Given the description of an element on the screen output the (x, y) to click on. 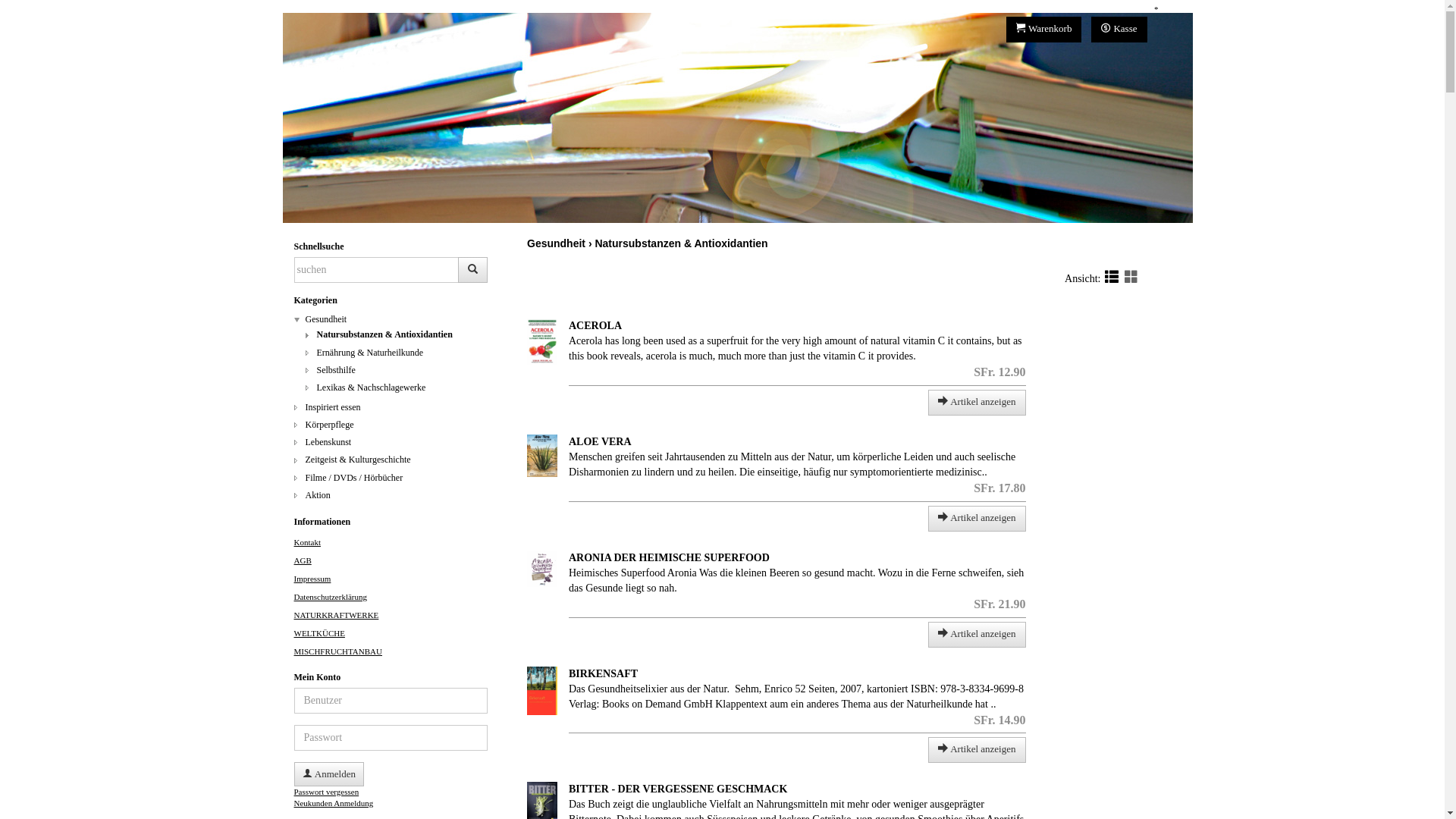
Artikel anzeigen Element type: text (977, 749)
Anmelden Element type: text (329, 774)
* Element type: text (1156, 9)
ACEROLA Element type: text (594, 325)
Artikel anzeigen Element type: text (977, 518)
Kasse Element type: text (1118, 29)
SFr. 17.80 Element type: text (999, 487)
Impressum Element type: text (312, 578)
Kontakt Element type: text (307, 541)
Neukunden Anmeldung Element type: text (333, 802)
Aktion Element type: text (391, 495)
AGB Element type: text (302, 559)
Zeitgeist & Kulturgeschichte Element type: text (391, 459)
NATURKRAFTWERKE Element type: text (336, 614)
Natursubstanzen & Antioxidantien Element type: text (680, 243)
Selbsthilfe Element type: text (391, 370)
ALOE VERA Element type: text (599, 441)
BIRKENSAFT Element type: text (602, 673)
ARONIA DER HEIMISCHE SUPERFOOD Element type: text (668, 557)
SFr. 21.90 Element type: text (999, 603)
Artikel anzeigen Element type: text (977, 402)
MISCHFRUCHTANBAU Element type: text (338, 650)
BITTER - DER VERGESSENE GESCHMACK Element type: text (677, 788)
SFr. 12.90 Element type: text (999, 371)
Lexikas & Nachschlagewerke Element type: text (391, 387)
SFr. 14.90 Element type: text (999, 719)
Gesundheit Element type: text (391, 319)
Artikel anzeigen Element type: text (977, 634)
Lebenskunst Element type: text (391, 442)
Warenkorb Element type: text (1044, 29)
Passwort vergessen Element type: text (326, 791)
Natursubstanzen & Antioxidantien Element type: text (391, 334)
Gesundheit Element type: text (556, 243)
Inspiriert essen Element type: text (391, 407)
